Given the description of an element on the screen output the (x, y) to click on. 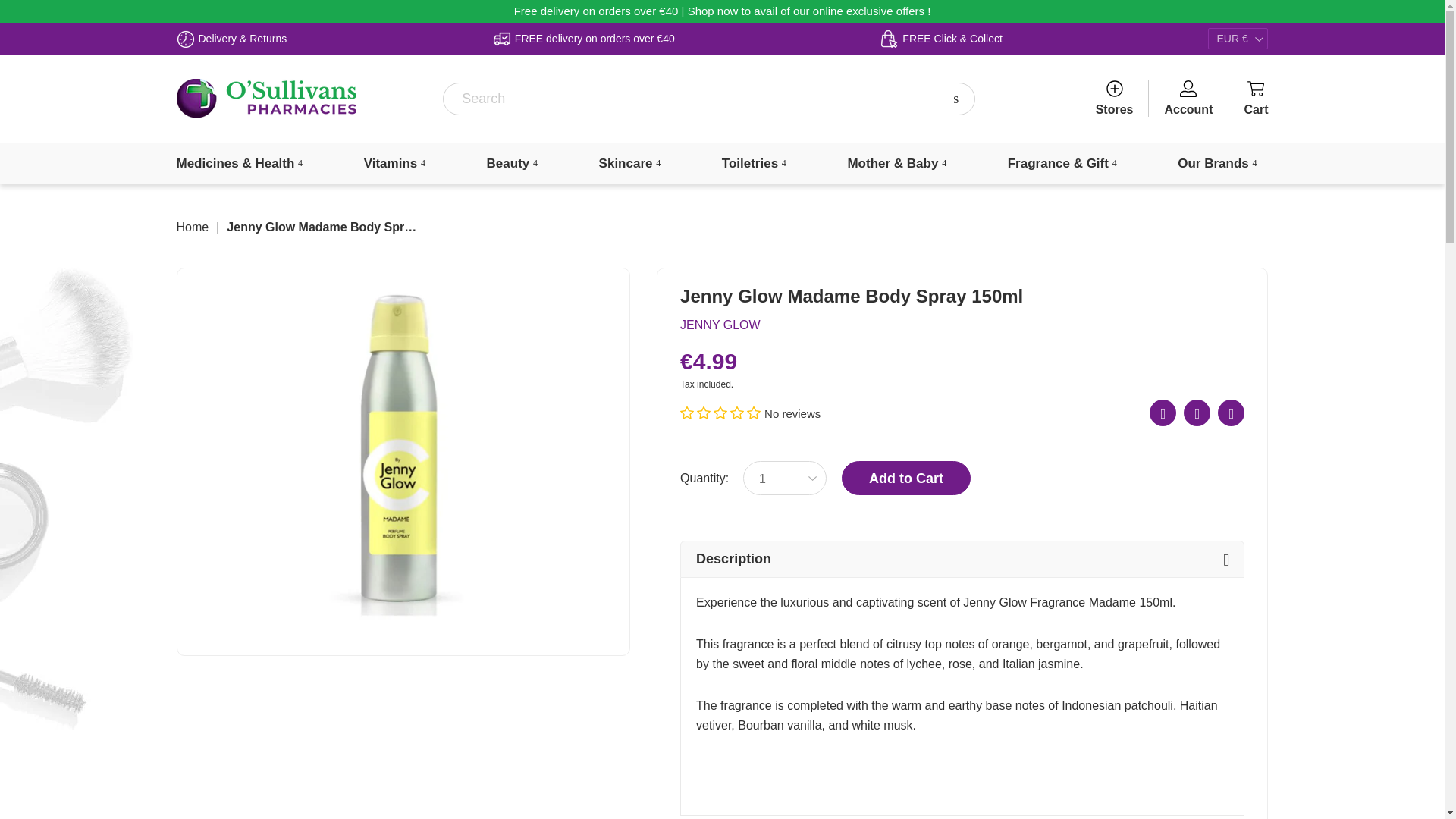
Stores (1115, 98)
Pin on Pinterest (1230, 412)
Back to the frontpage (192, 227)
Tweet on Twitter (1196, 412)
Share on Facebook (1163, 412)
Search (956, 97)
Account (1187, 98)
